Given the description of an element on the screen output the (x, y) to click on. 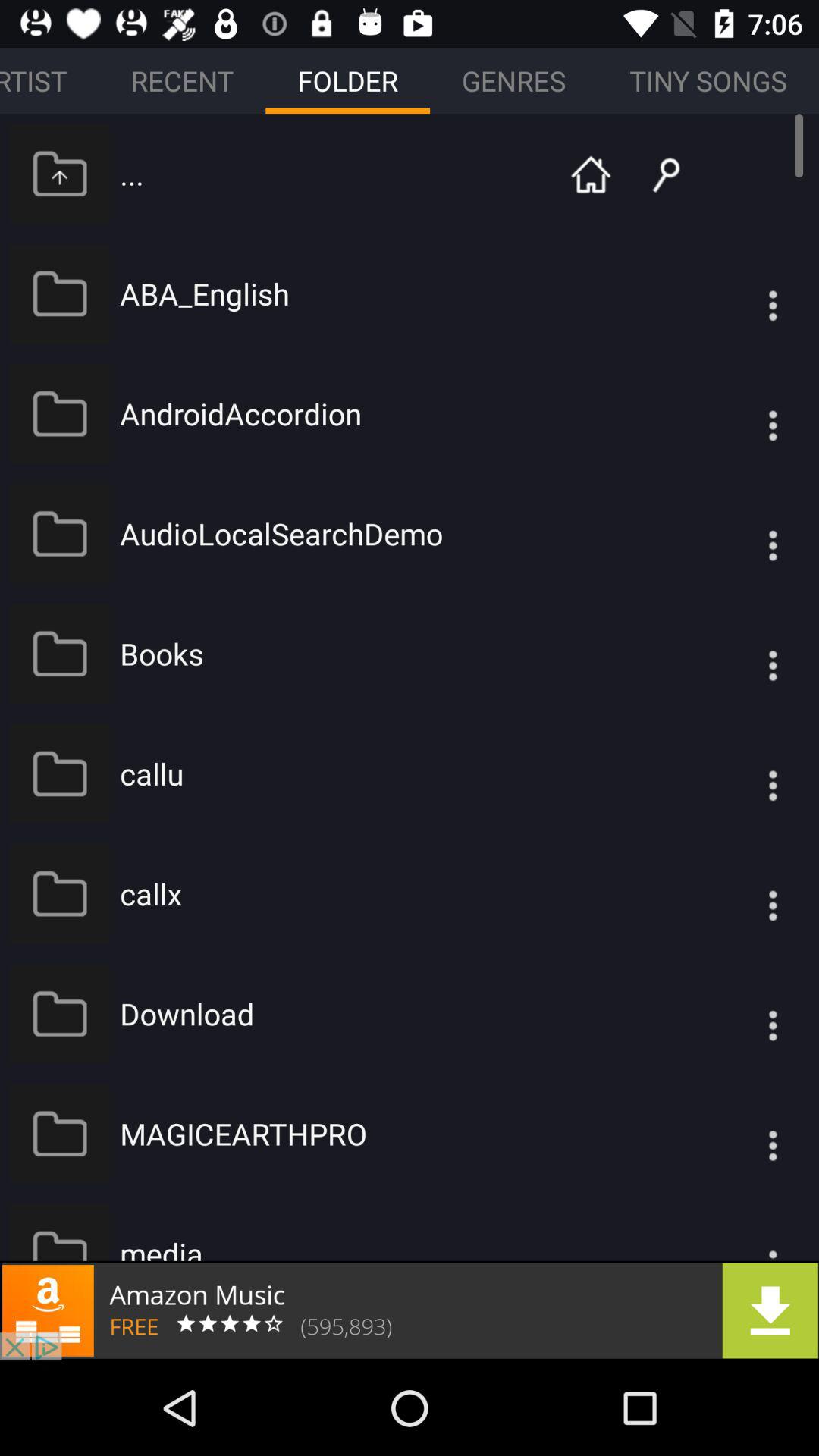
overflow symbol (742, 413)
